Given the description of an element on the screen output the (x, y) to click on. 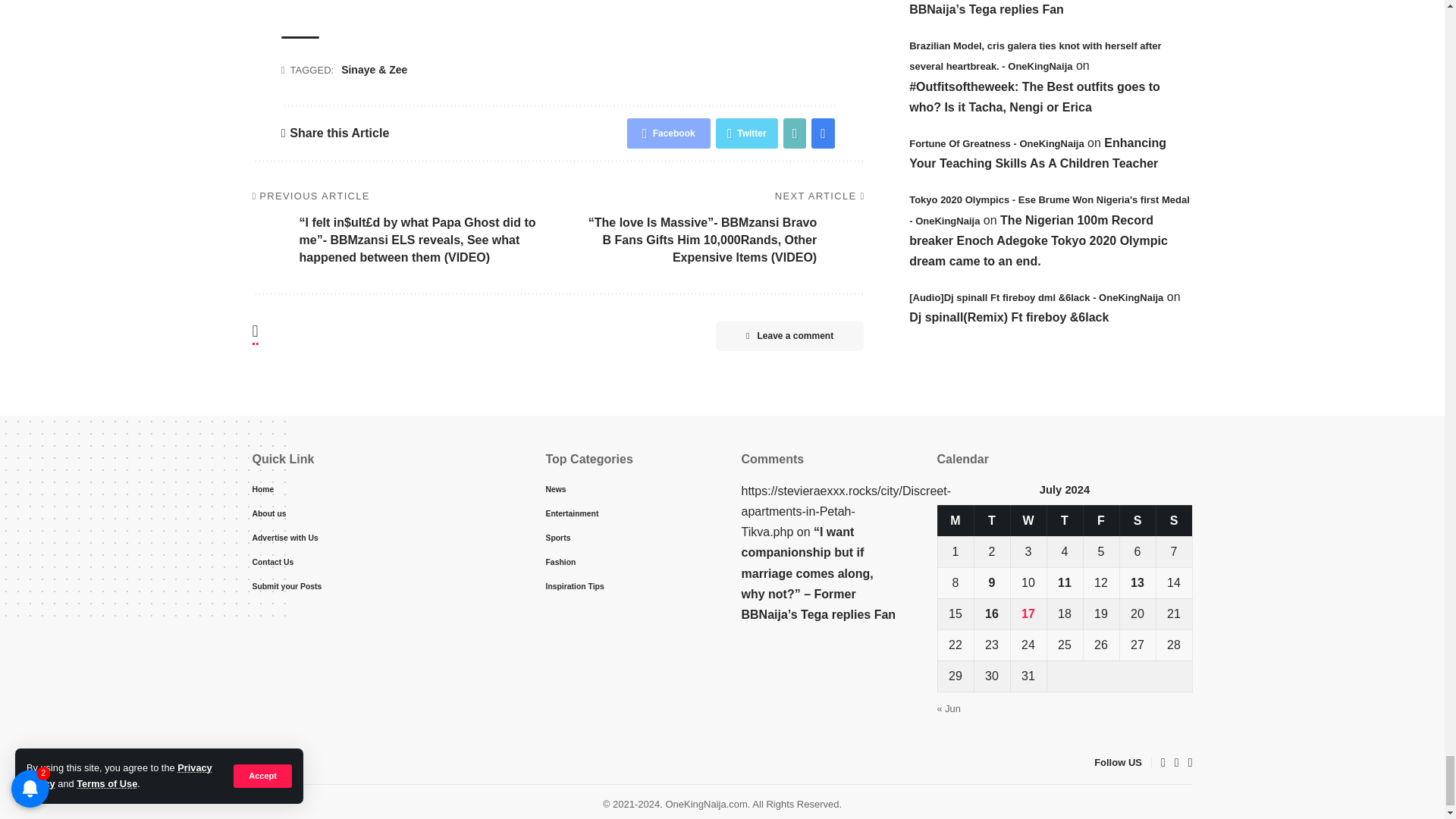
Tuesday (992, 520)
Monday (955, 520)
